Given the description of an element on the screen output the (x, y) to click on. 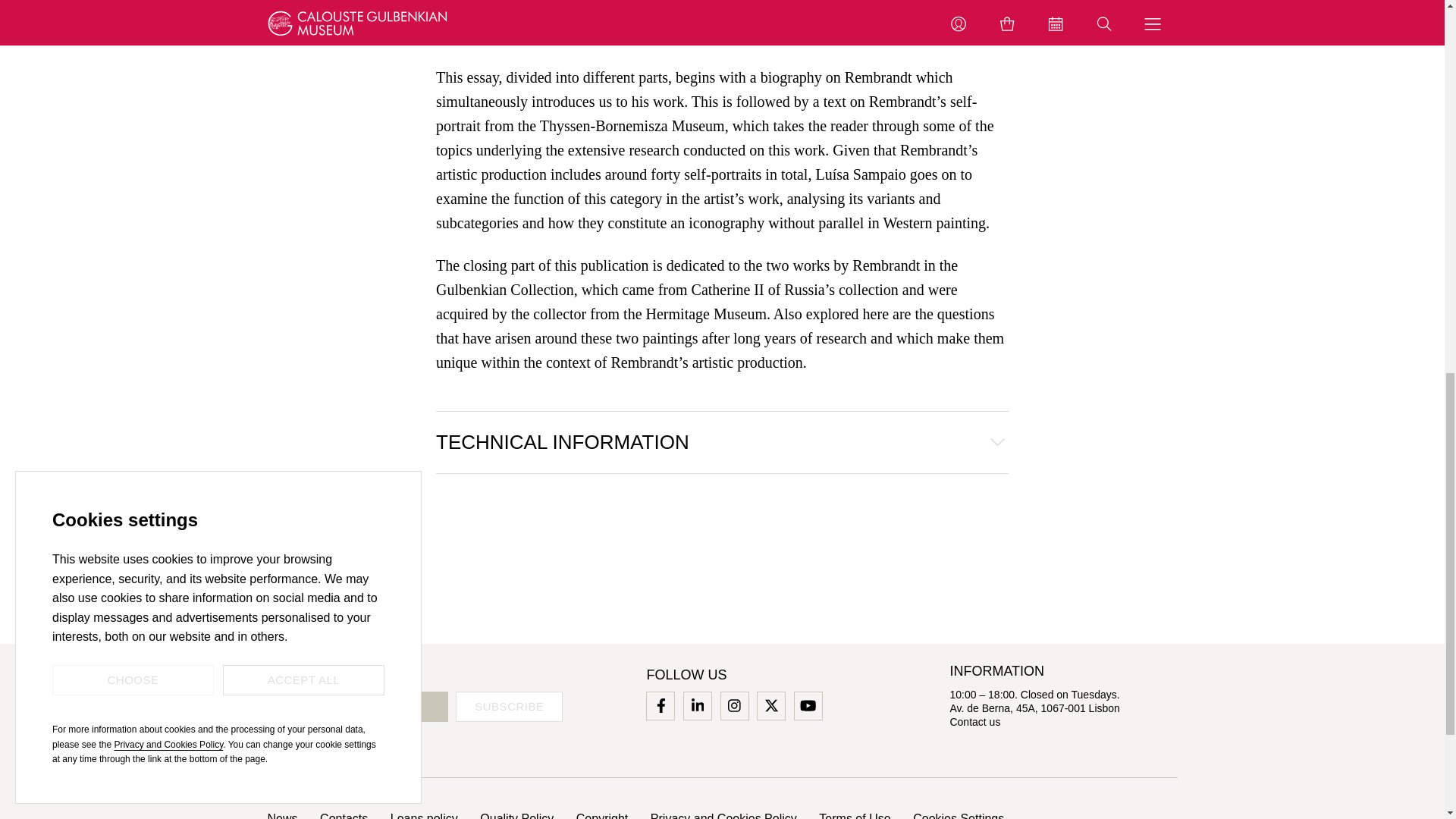
Instagram (734, 705)
Google Maps (1034, 707)
Facebook (660, 705)
LinkedIn (697, 705)
Twitter (770, 705)
Pallas Athena (478, 34)
Old Man (948, 10)
Youtube (808, 705)
